Given the description of an element on the screen output the (x, y) to click on. 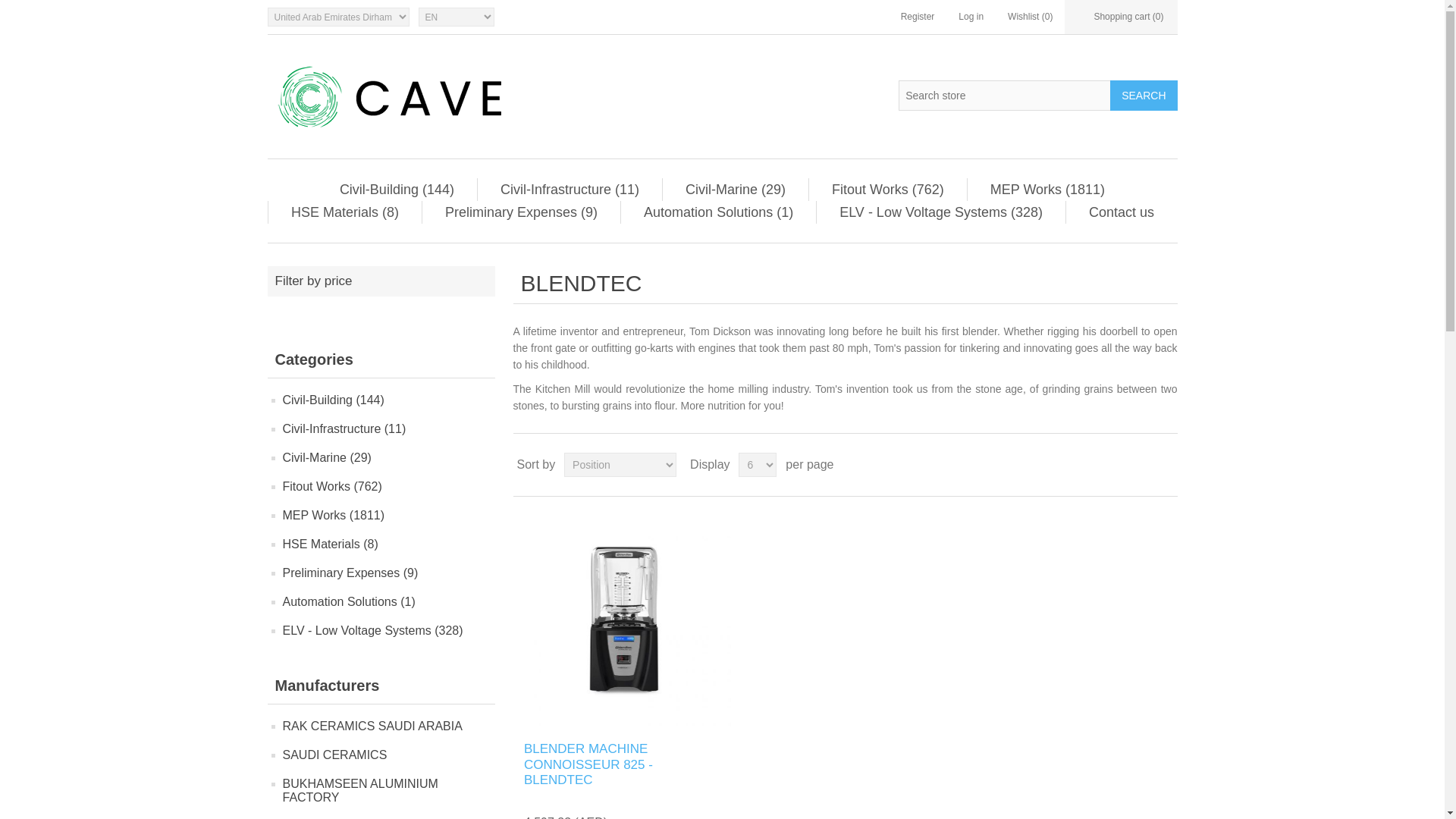
SEARCH (1142, 95)
Register (917, 17)
Show details for BLENDER MACHINE CONNOISSEUR 825 - BLENDTEC (623, 618)
